Given the description of an element on the screen output the (x, y) to click on. 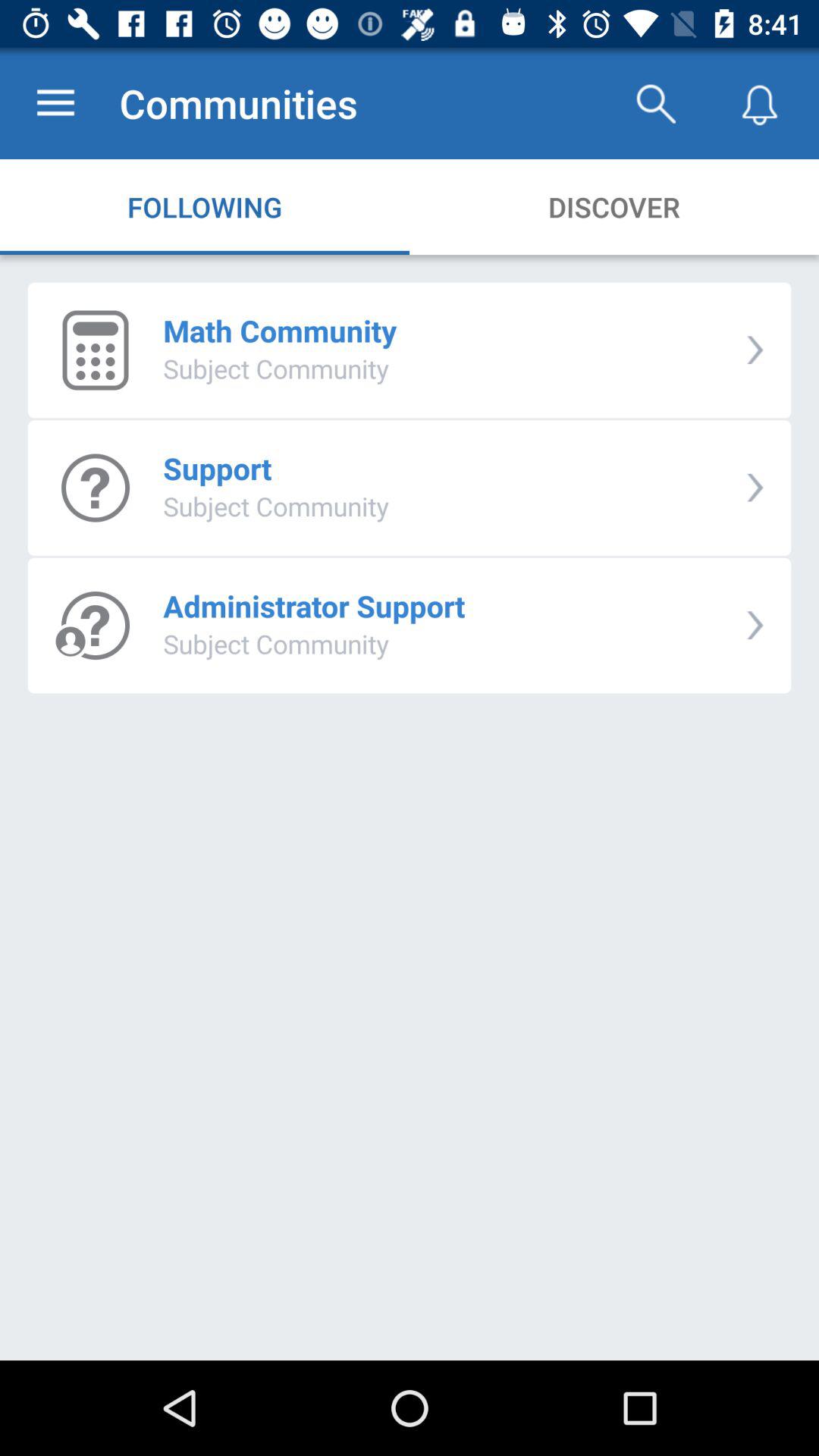
turn off administrator support item (314, 605)
